Given the description of an element on the screen output the (x, y) to click on. 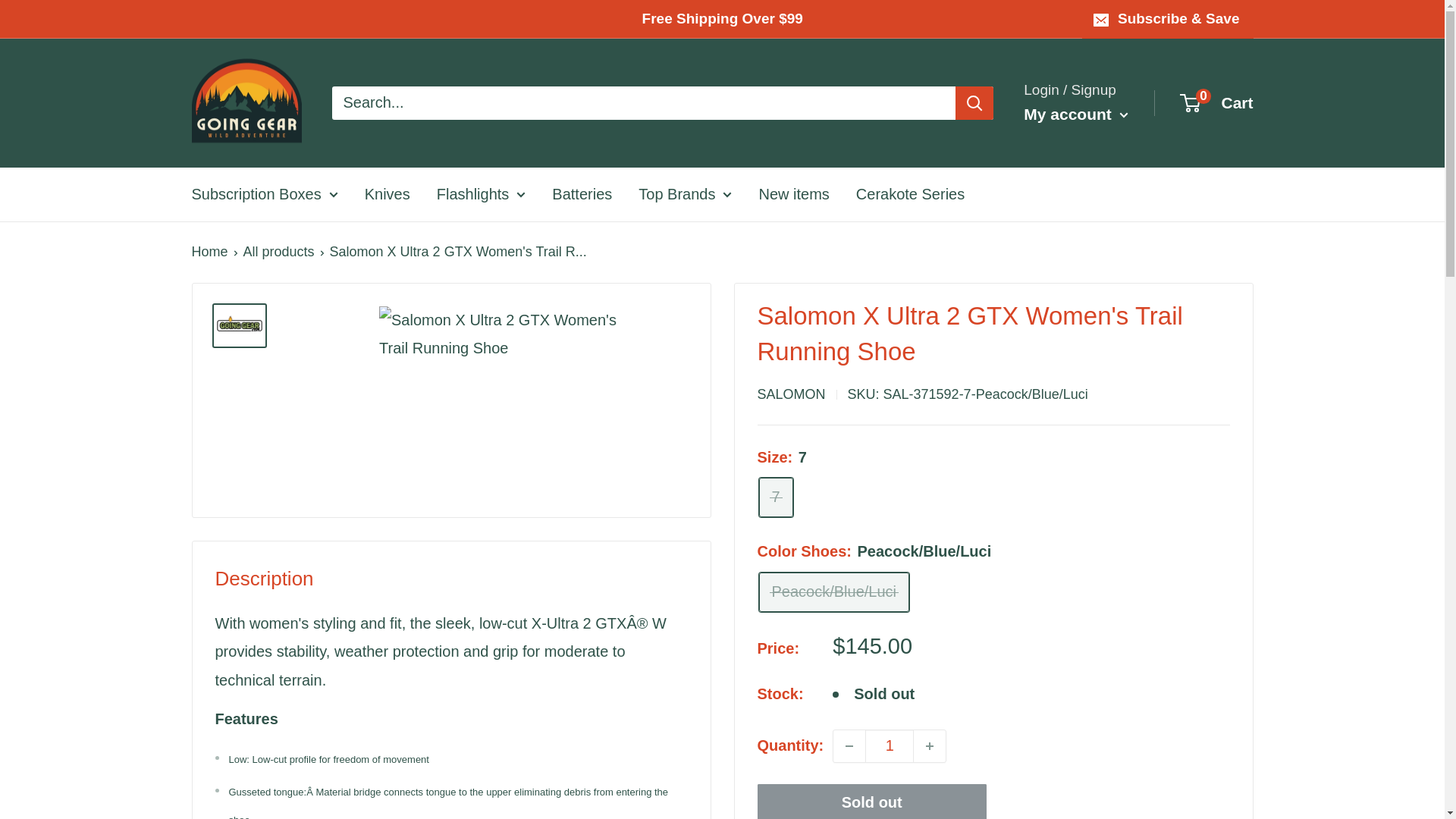
1 (889, 746)
Increase quantity by 1 (929, 746)
Decrease quantity by 1 (848, 746)
